Given the description of an element on the screen output the (x, y) to click on. 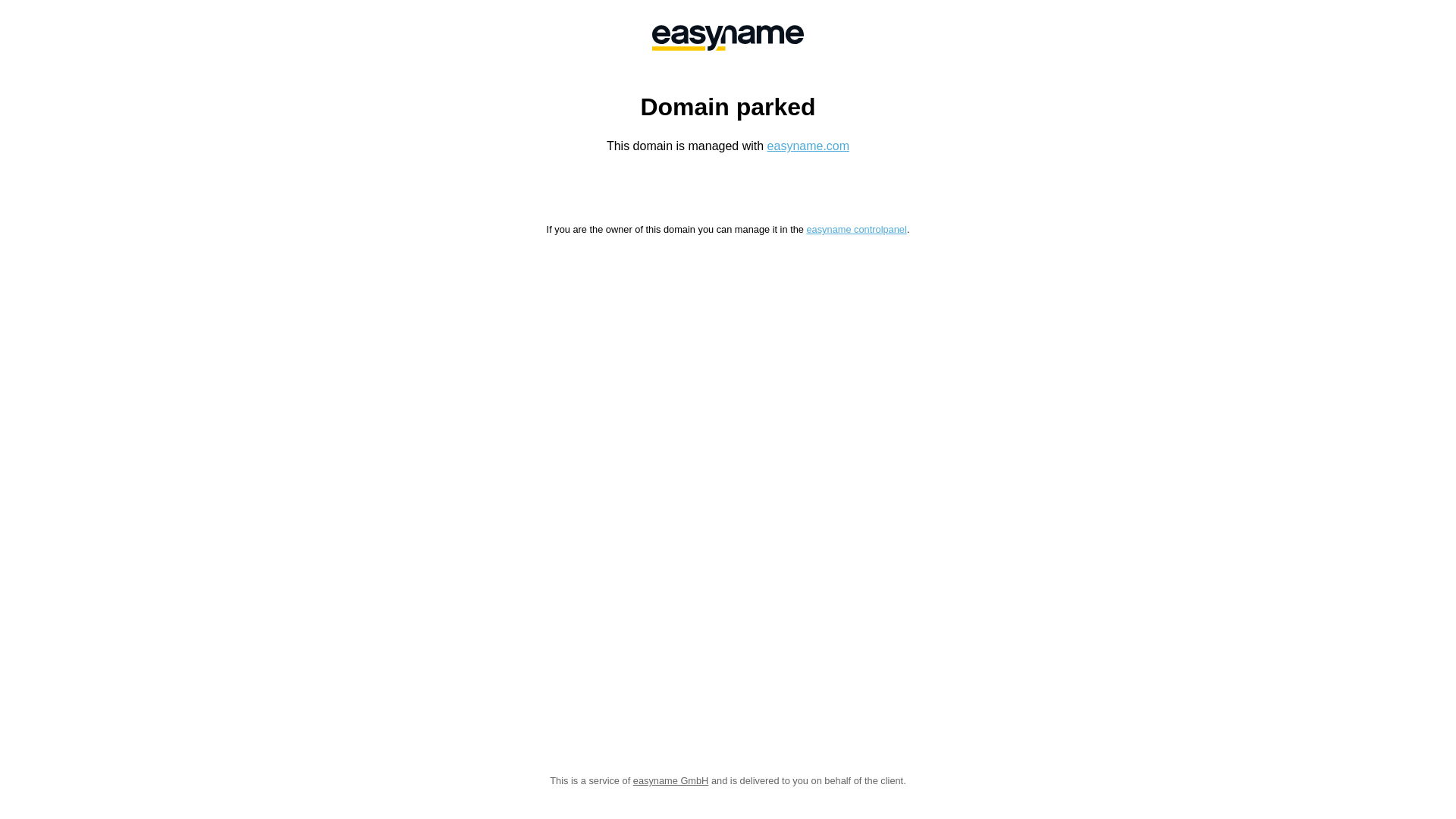
easyname controlpanel Element type: text (856, 229)
easyname GmbH Element type: text (671, 780)
easyname GmbH Element type: hover (727, 37)
easyname.com Element type: text (808, 145)
